Given the description of an element on the screen output the (x, y) to click on. 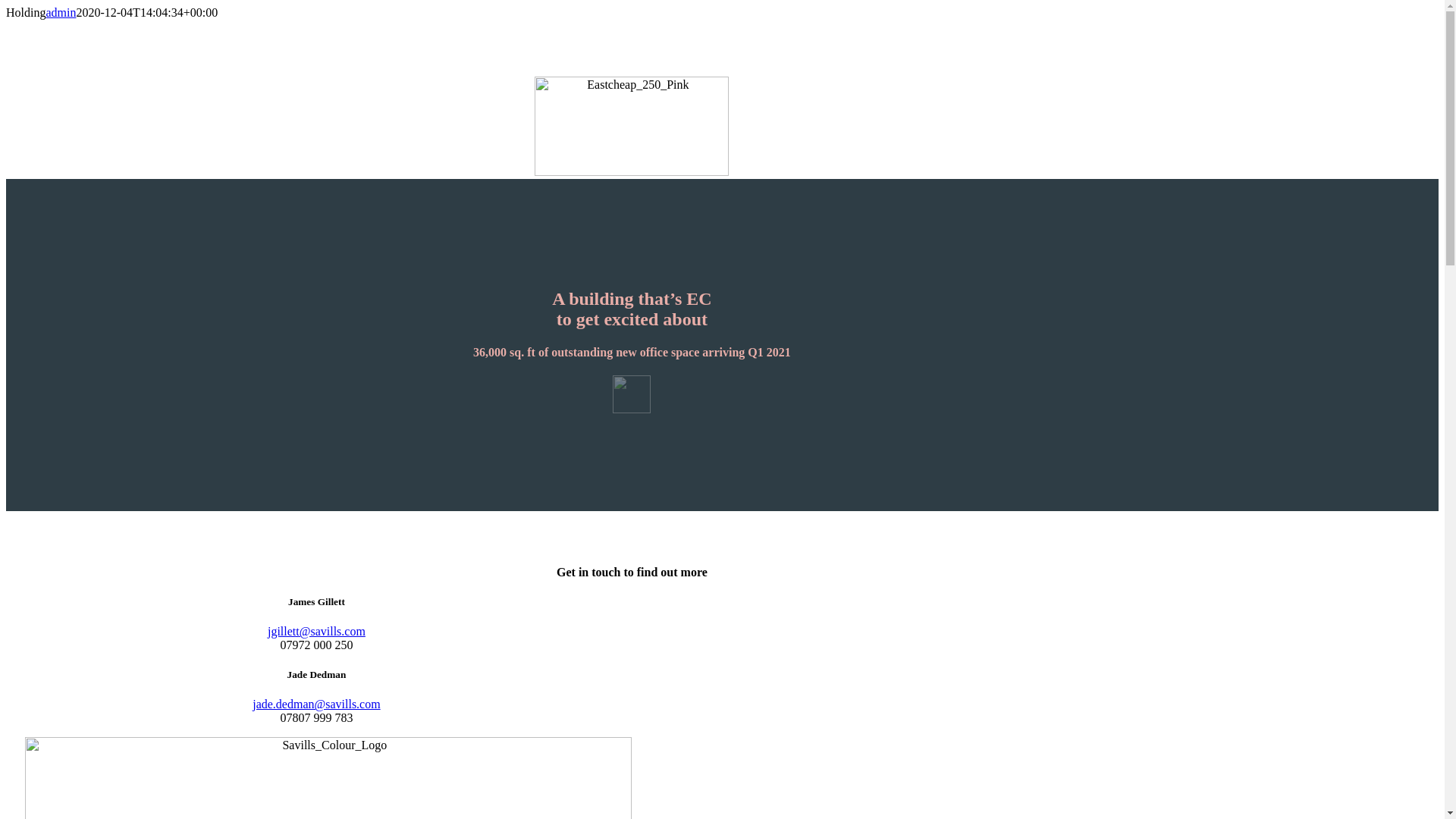
Eastcheap_250_Pink Element type: hover (631, 125)
jade.dedman@savills.com Element type: text (315, 703)
admin Element type: text (60, 12)
Skip to content Element type: text (5, 5)
jgillett@savills.com Element type: text (316, 630)
